Given the description of an element on the screen output the (x, y) to click on. 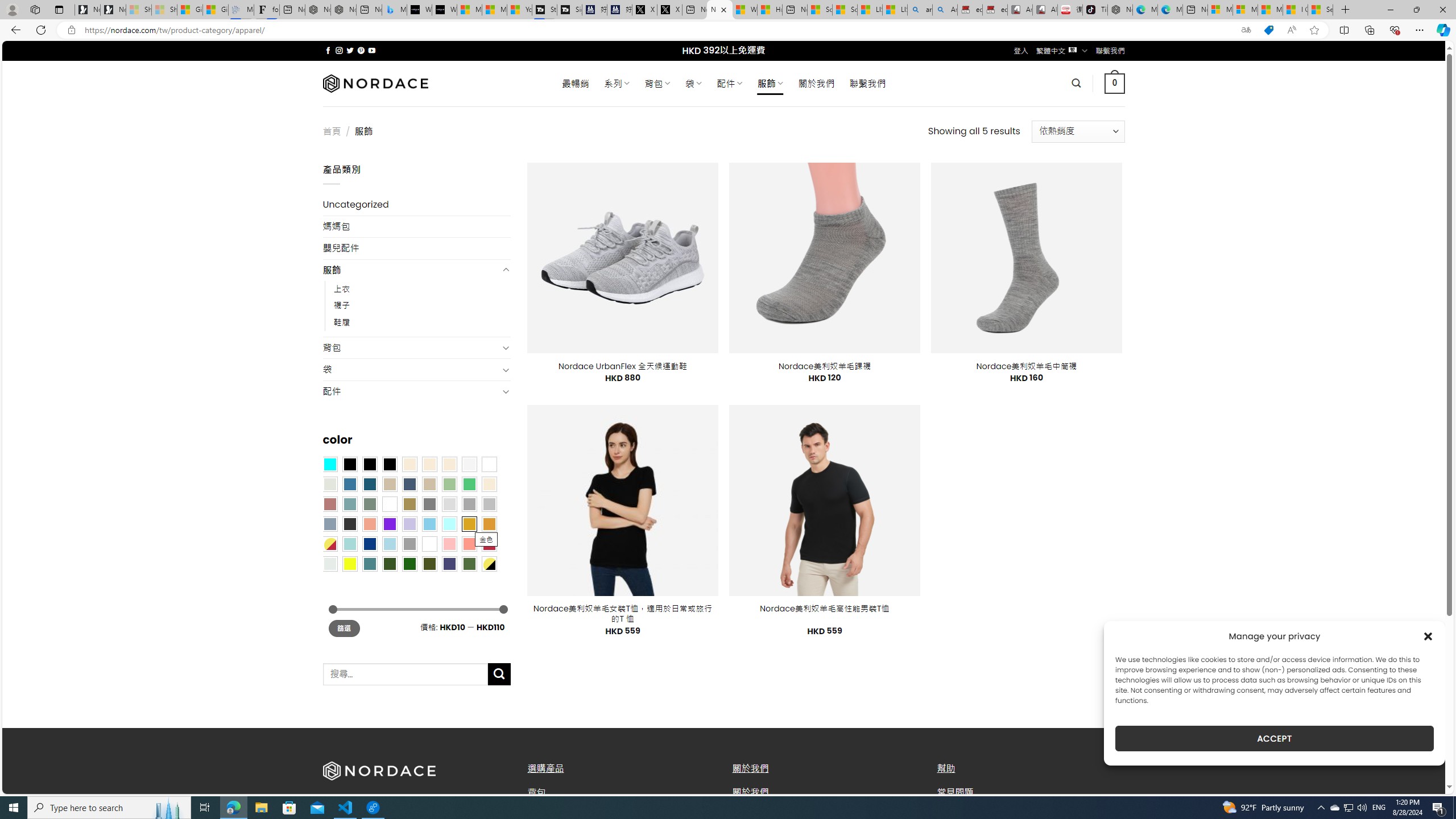
Follow on Pinterest (360, 50)
All Cubot phones (1044, 9)
Nordace - Best Sellers (1119, 9)
Follow on Facebook (327, 50)
TikTok (1094, 9)
